Given the description of an element on the screen output the (x, y) to click on. 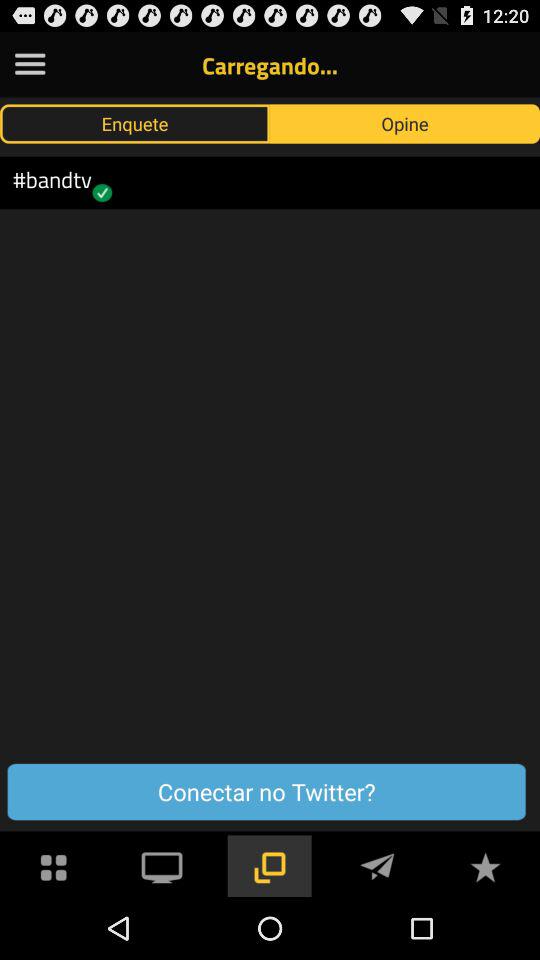
see menu (54, 865)
